Given the description of an element on the screen output the (x, y) to click on. 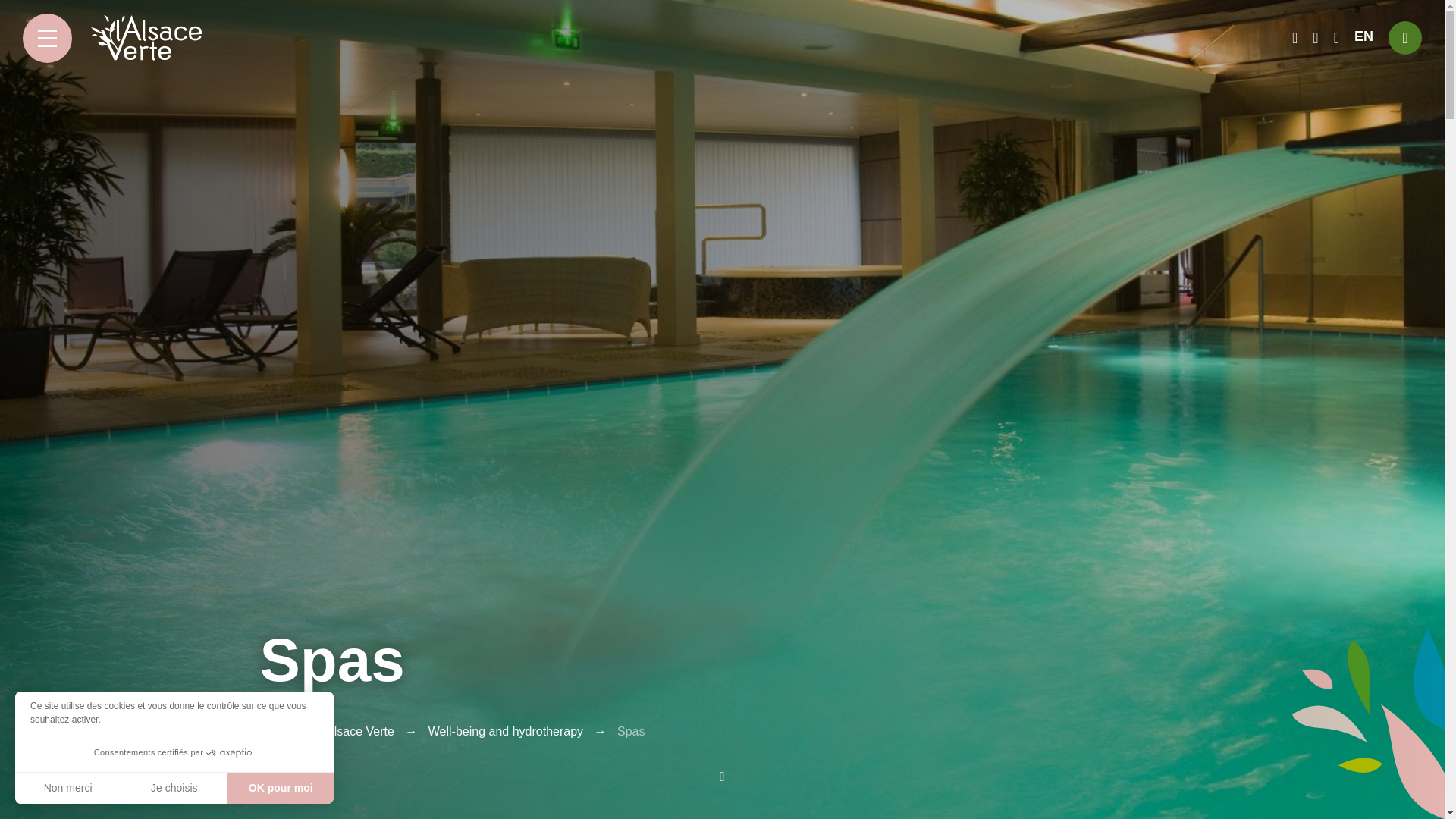
Green Alsace Tourist Office (146, 37)
